Given the description of an element on the screen output the (x, y) to click on. 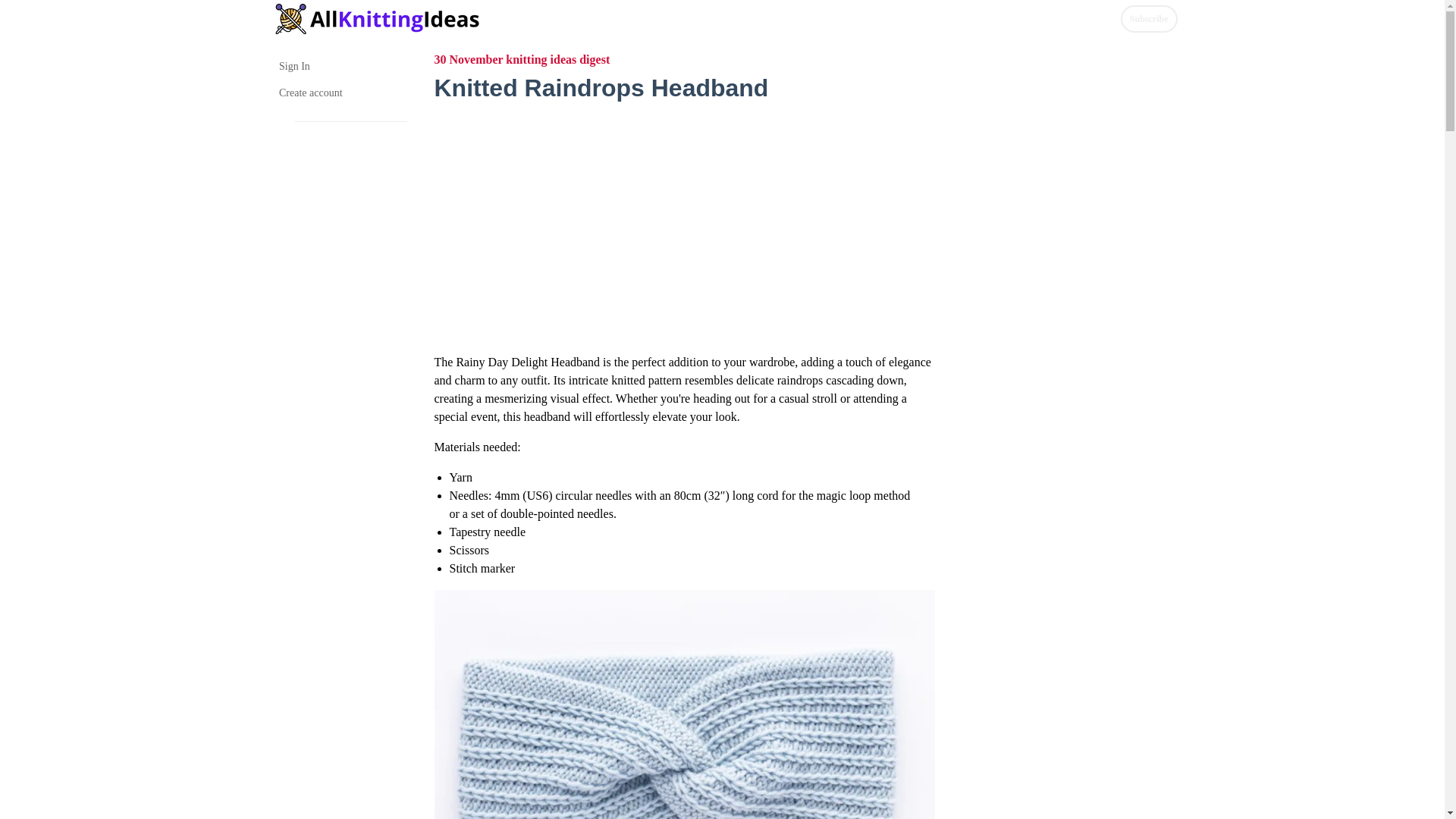
30 November knitting ideas digest (521, 59)
Create account (342, 92)
Create account (342, 92)
Subscribe (1149, 18)
Advertisement (683, 219)
Sign In (342, 66)
Sign In (342, 66)
Subscribe (1149, 18)
